Given the description of an element on the screen output the (x, y) to click on. 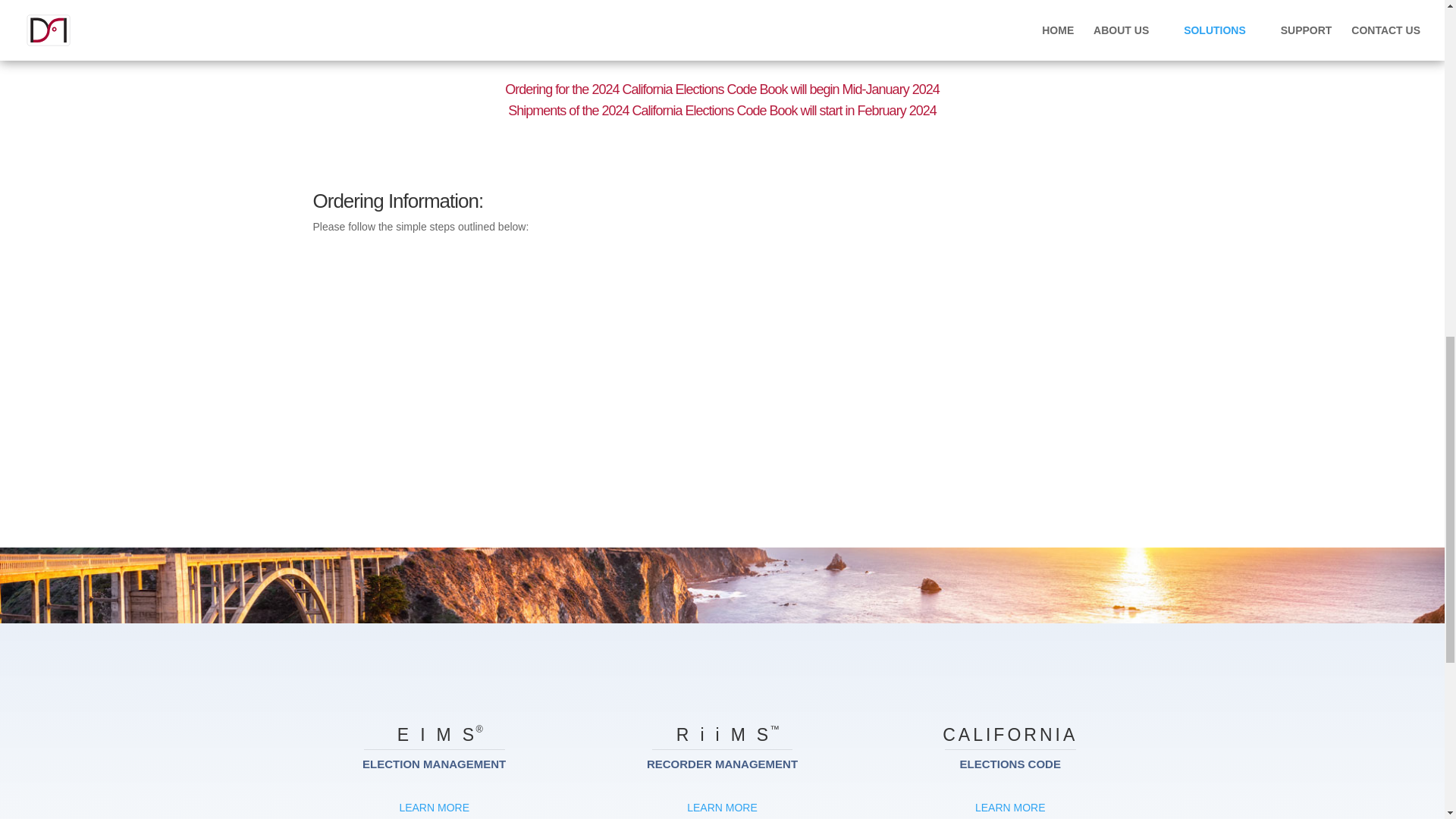
LEARN MORE (1010, 807)
LEARN MORE (722, 807)
LEARN MORE (434, 807)
